Given the description of an element on the screen output the (x, y) to click on. 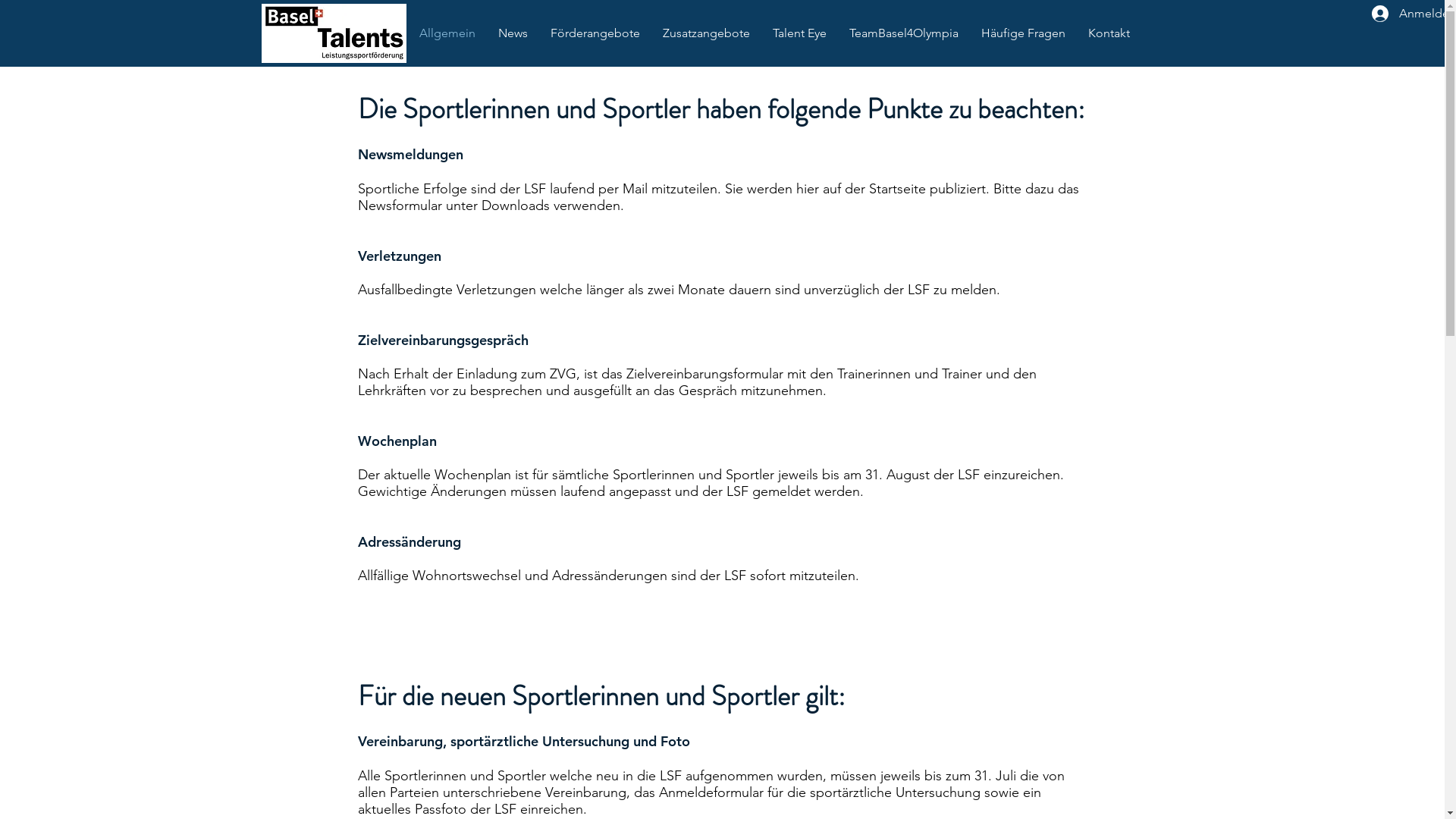
News Element type: text (512, 33)
Allgemein Element type: text (446, 33)
Talent Eye Element type: text (799, 33)
BaselTalents mit Schriftzug.JPG Element type: hover (332, 32)
Anmelden Element type: text (1402, 13)
Kontakt Element type: text (1108, 33)
TeamBasel4Olympia Element type: text (903, 33)
Zusatzangebote Element type: text (705, 33)
